Given the description of an element on the screen output the (x, y) to click on. 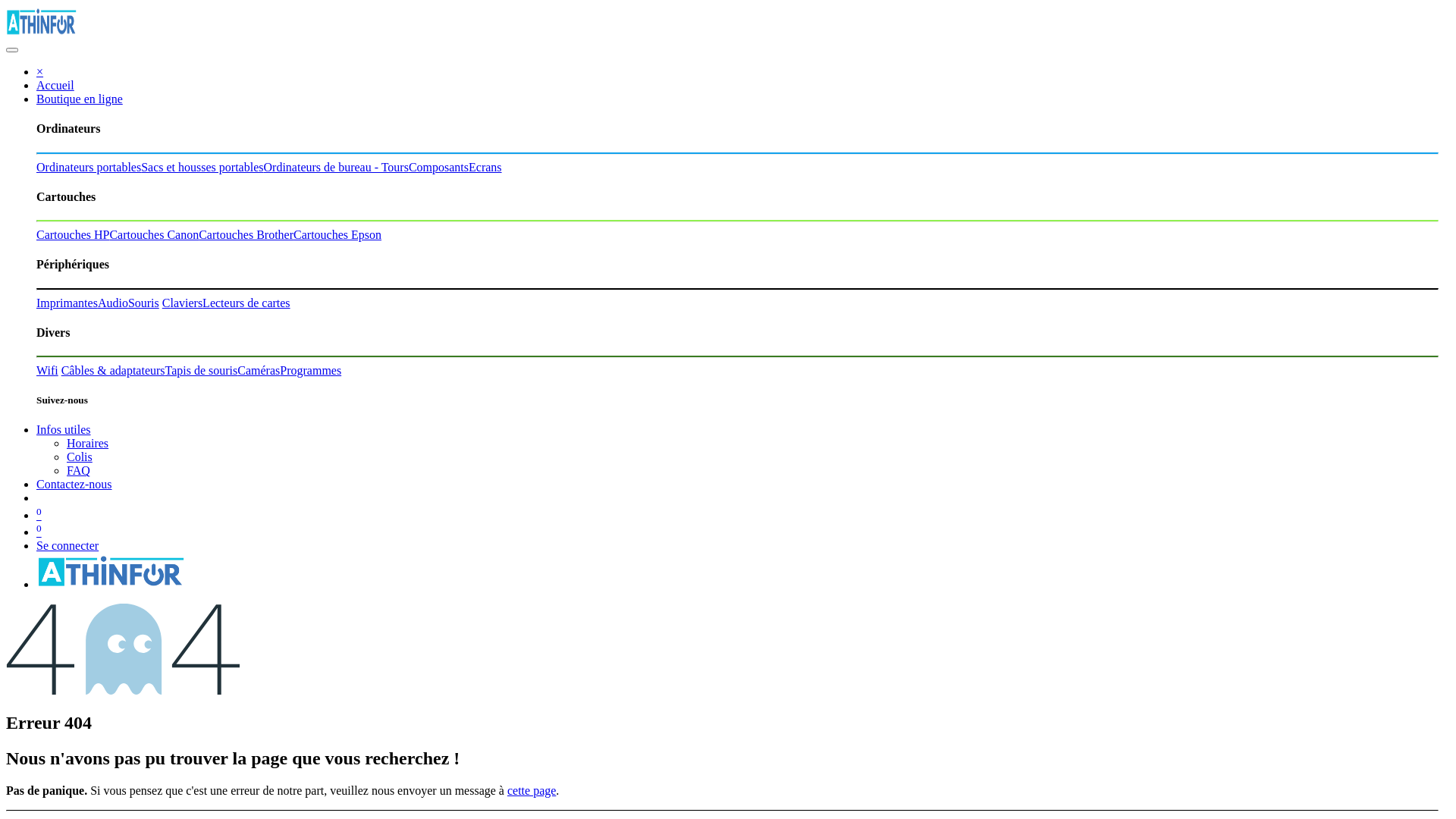
Infos utiles Element type: text (63, 429)
Cartouches Canon Element type: text (153, 234)
Tapis de souris Element type: text (201, 370)
Cartouches HP Element type: text (72, 234)
Cartouches Epson Element type: text (337, 234)
Cartouches Brother Element type: text (245, 234)
Ordinateurs de bureau - Tours Element type: text (335, 166)
Lecteurs de cartes Element type: text (245, 302)
Claviers Element type: text (182, 302)
Horaires Element type: text (87, 442)
Boutique en ligne Element type: text (79, 98)
cette page Element type: text (531, 790)
Athinfor Element type: hover (42, 31)
Souris Element type: text (143, 302)
0 Element type: text (38, 531)
Athinfor Element type: hover (112, 583)
Contactez-nous Element type: text (74, 483)
FAQ Element type: text (78, 470)
Colis Element type: text (79, 456)
Audio Element type: text (112, 302)
Programmes Element type: text (310, 370)
Wifi Element type: text (47, 370)
0 Element type: text (38, 514)
Imprimantes Element type: text (66, 302)
Ordinateurs portables Element type: text (88, 166)
Ecrans Element type: text (485, 166)
Sacs et housses portables Element type: text (202, 166)
Accueil Element type: text (55, 84)
Se connecter Element type: text (67, 545)
Composants Element type: text (438, 166)
